Given the description of an element on the screen output the (x, y) to click on. 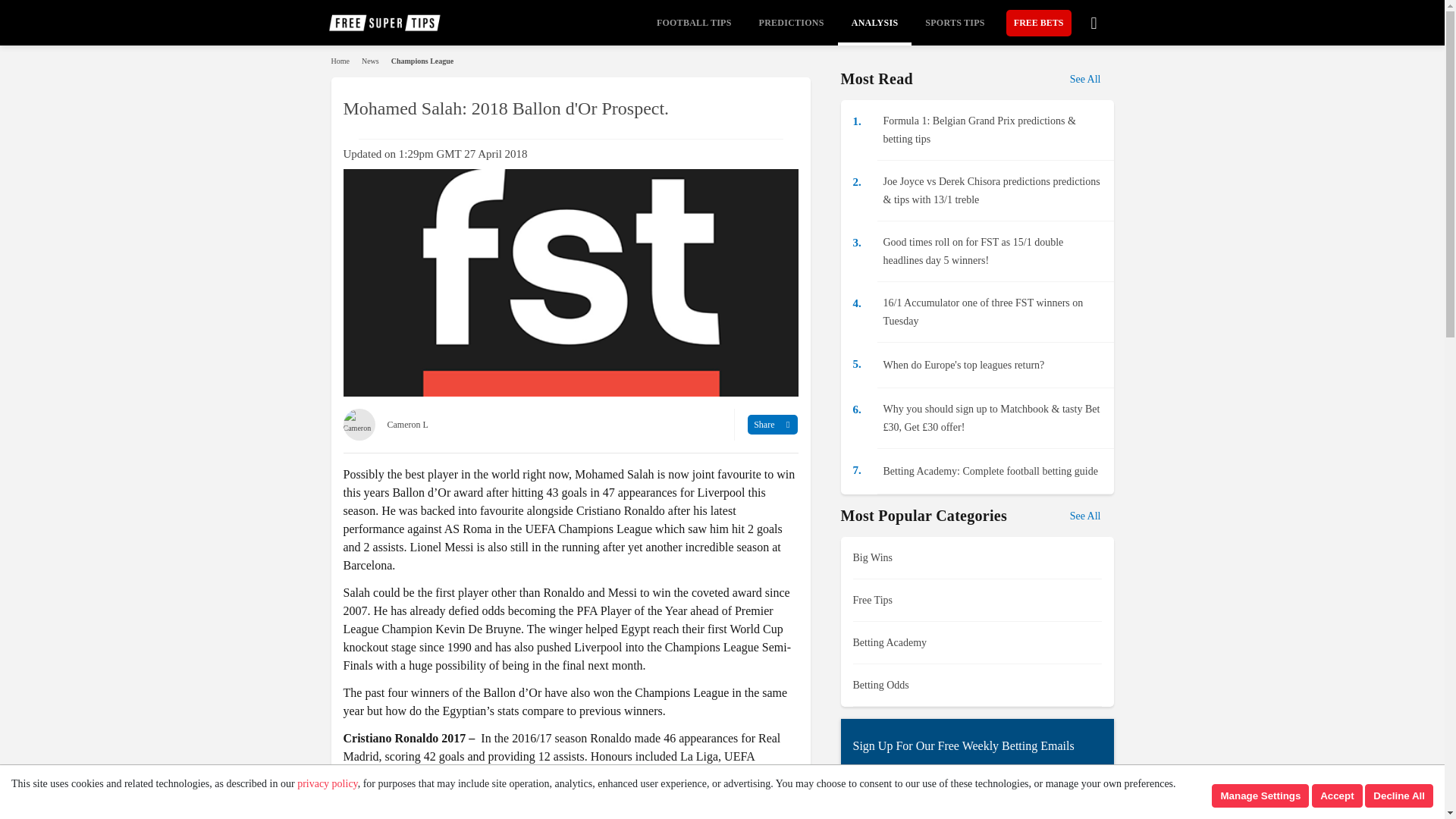
SPORTS TIPS (954, 22)
PREDICTIONS (791, 22)
ANALYSIS (874, 22)
Decline All (1398, 795)
FREE BETS (1038, 22)
Accept (1336, 795)
Manage Settings (1259, 795)
FOOTBALL TIPS (694, 22)
privacy policy (327, 783)
